Given the description of an element on the screen output the (x, y) to click on. 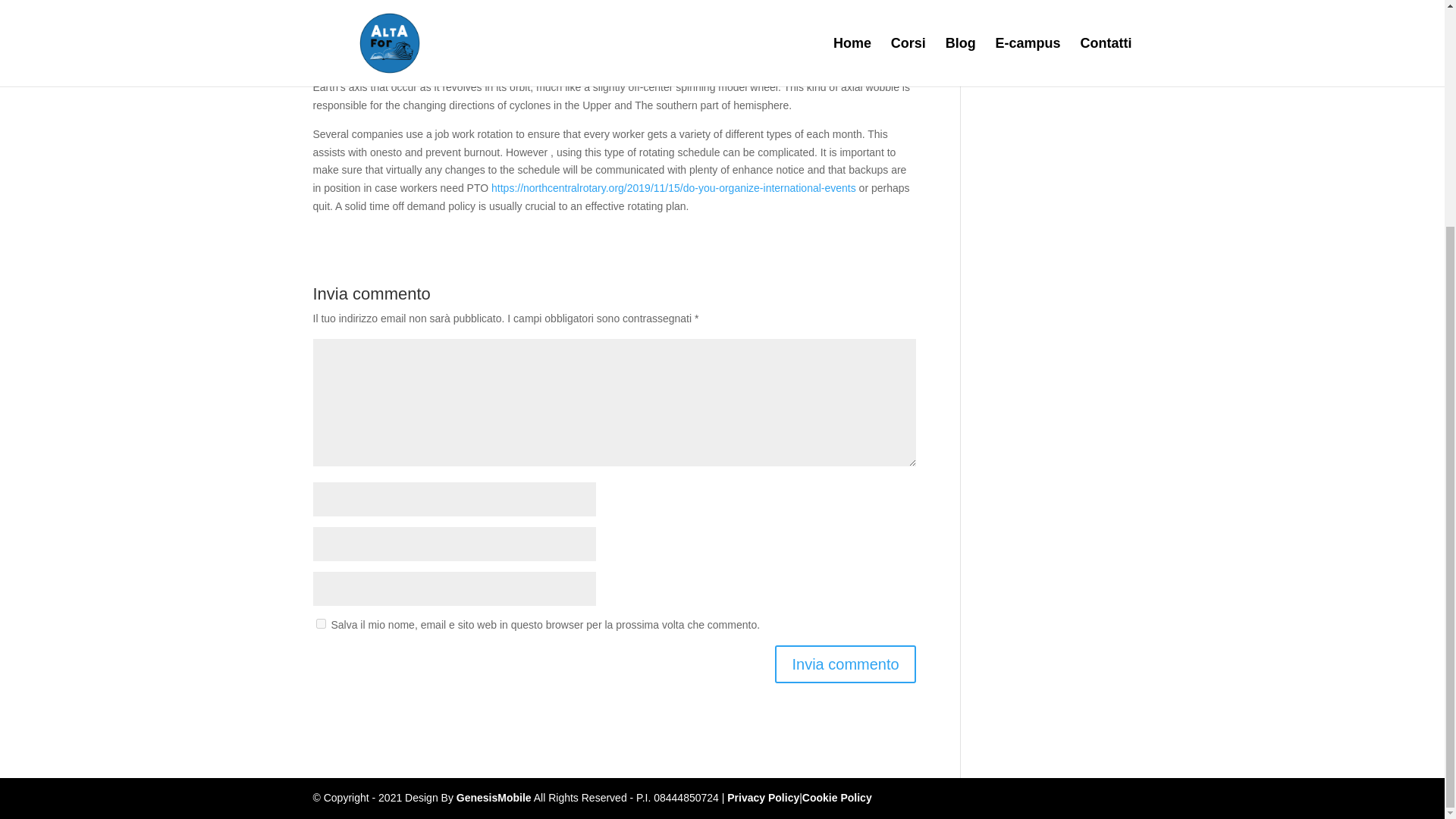
Invia commento (844, 664)
yes (319, 623)
Privacy Policy (762, 797)
GenesisMobile (494, 797)
Cookie Policy (837, 797)
Invia commento (844, 664)
